Given the description of an element on the screen output the (x, y) to click on. 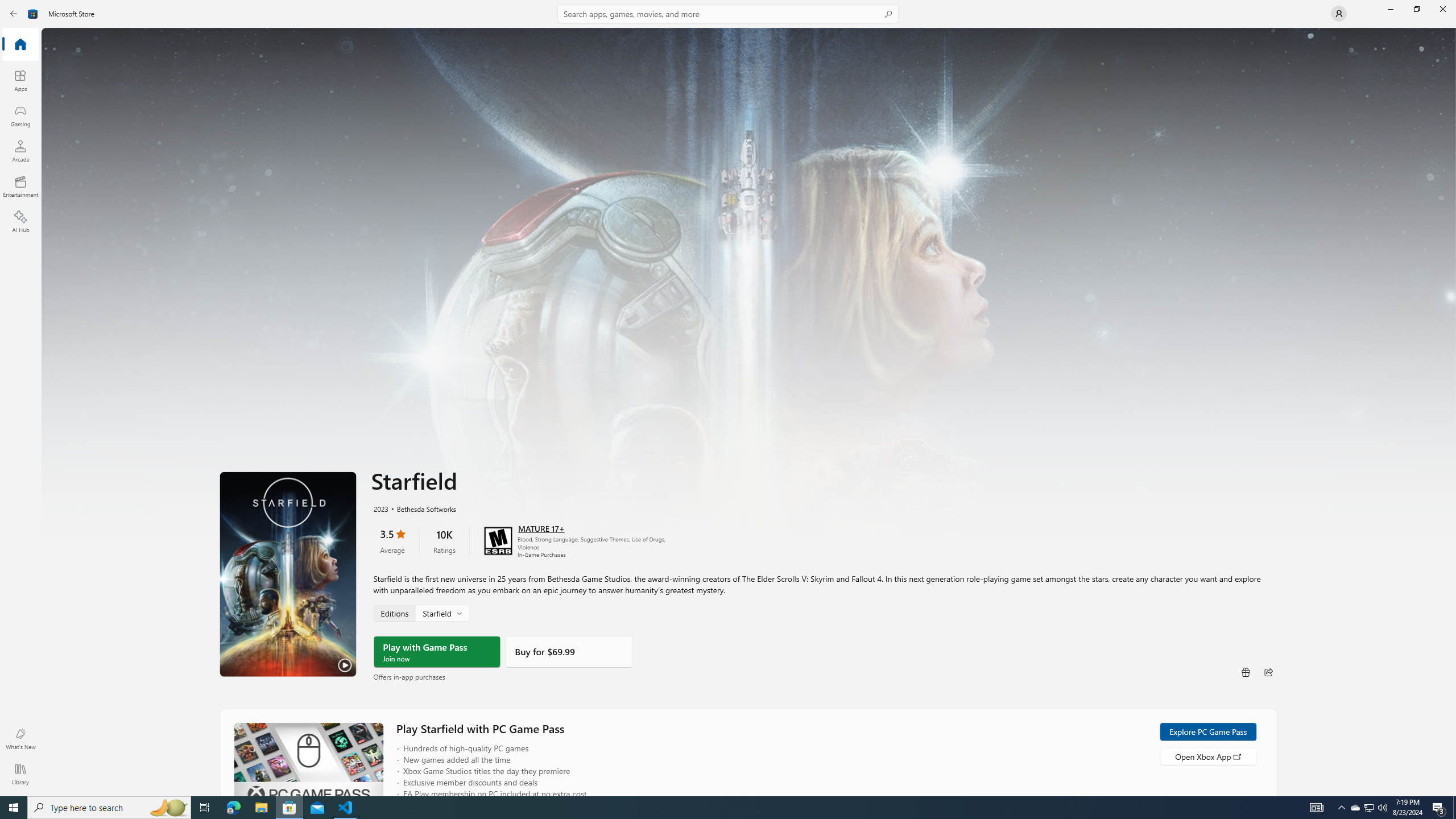
Age rating: MATURE 17+. Click for more information. (540, 527)
Minimize Microsoft Store (1390, 9)
Home (20, 45)
Share (1267, 671)
3.5 stars. Click to skip to ratings and reviews (392, 540)
Buy (568, 651)
Entertainment (20, 185)
Arcade (20, 150)
Open Xbox App (1207, 755)
AI Hub (20, 221)
Explore PC Game Pass (1207, 730)
User profile (1338, 13)
Class: Image (32, 13)
What's New (20, 738)
Search (727, 13)
